Given the description of an element on the screen output the (x, y) to click on. 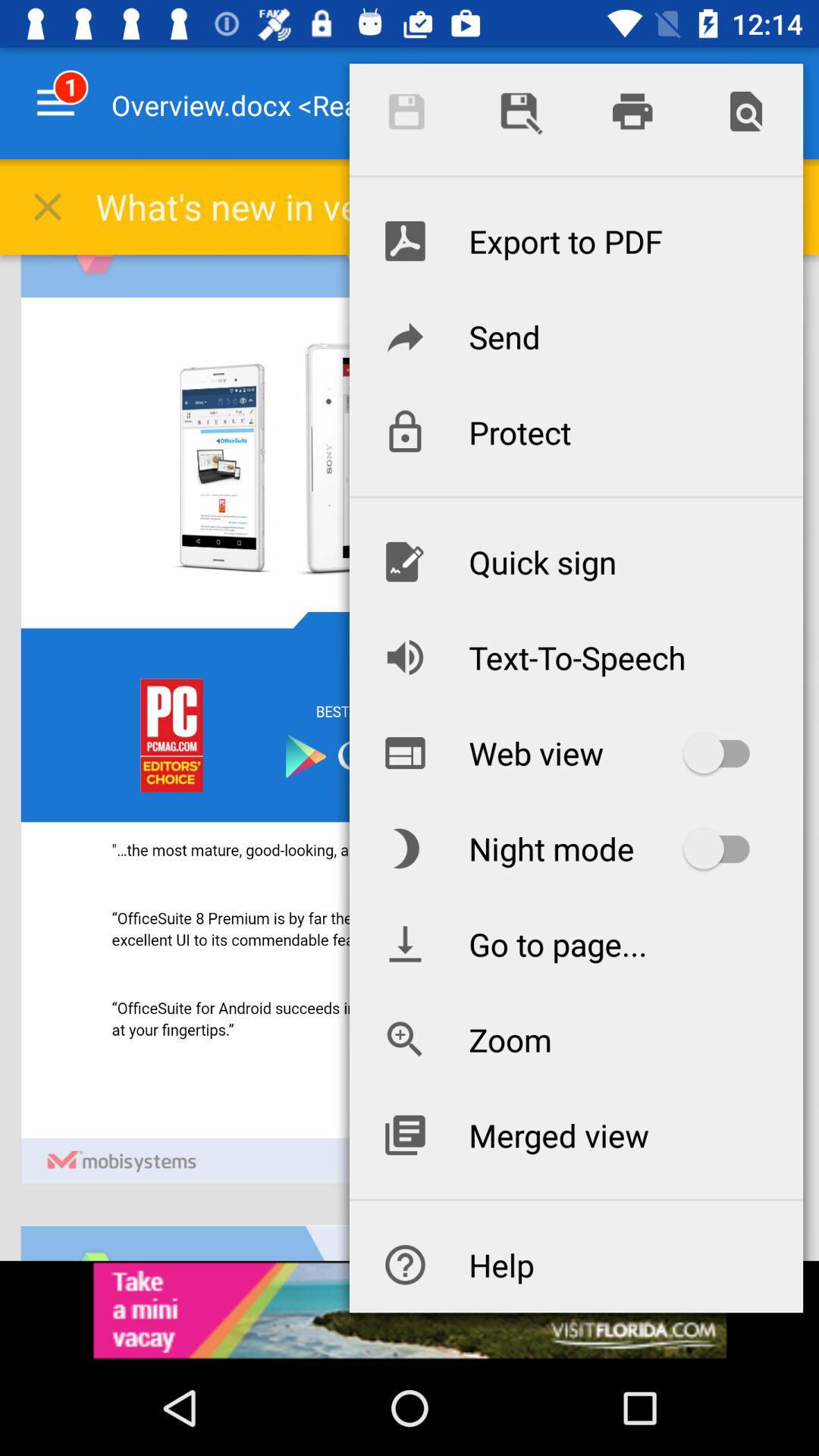
jump to the protect (576, 432)
